Given the description of an element on the screen output the (x, y) to click on. 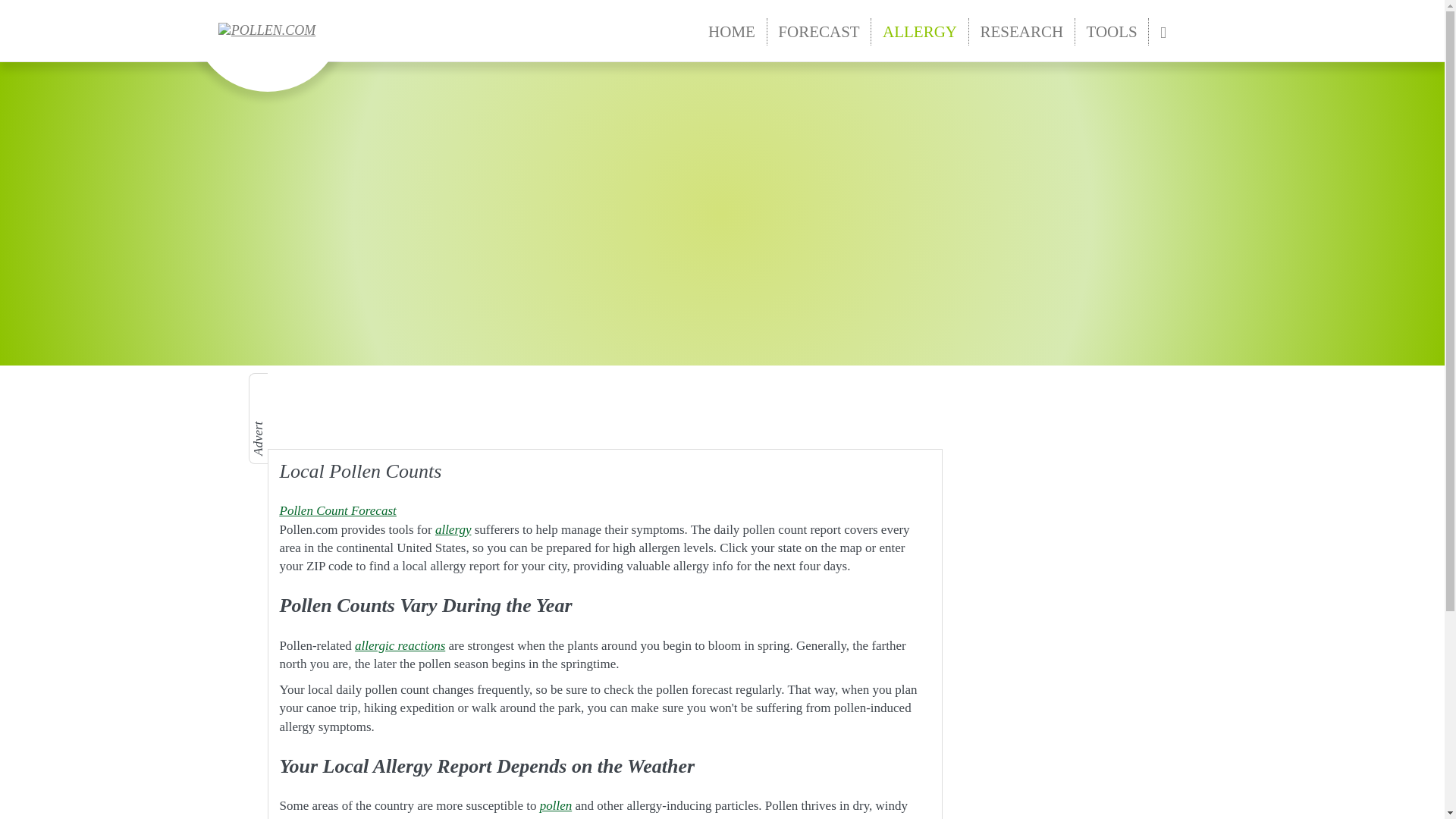
pollen (556, 805)
allergy (453, 529)
Login to My Pollen.com (1162, 31)
ALLERGY (919, 31)
RESEARCH (1022, 31)
Four Day Allergy Forecast (337, 510)
HOME (732, 31)
Pollen Count Forecast (337, 510)
FORECAST (819, 31)
allergic reactions (400, 645)
